Given the description of an element on the screen output the (x, y) to click on. 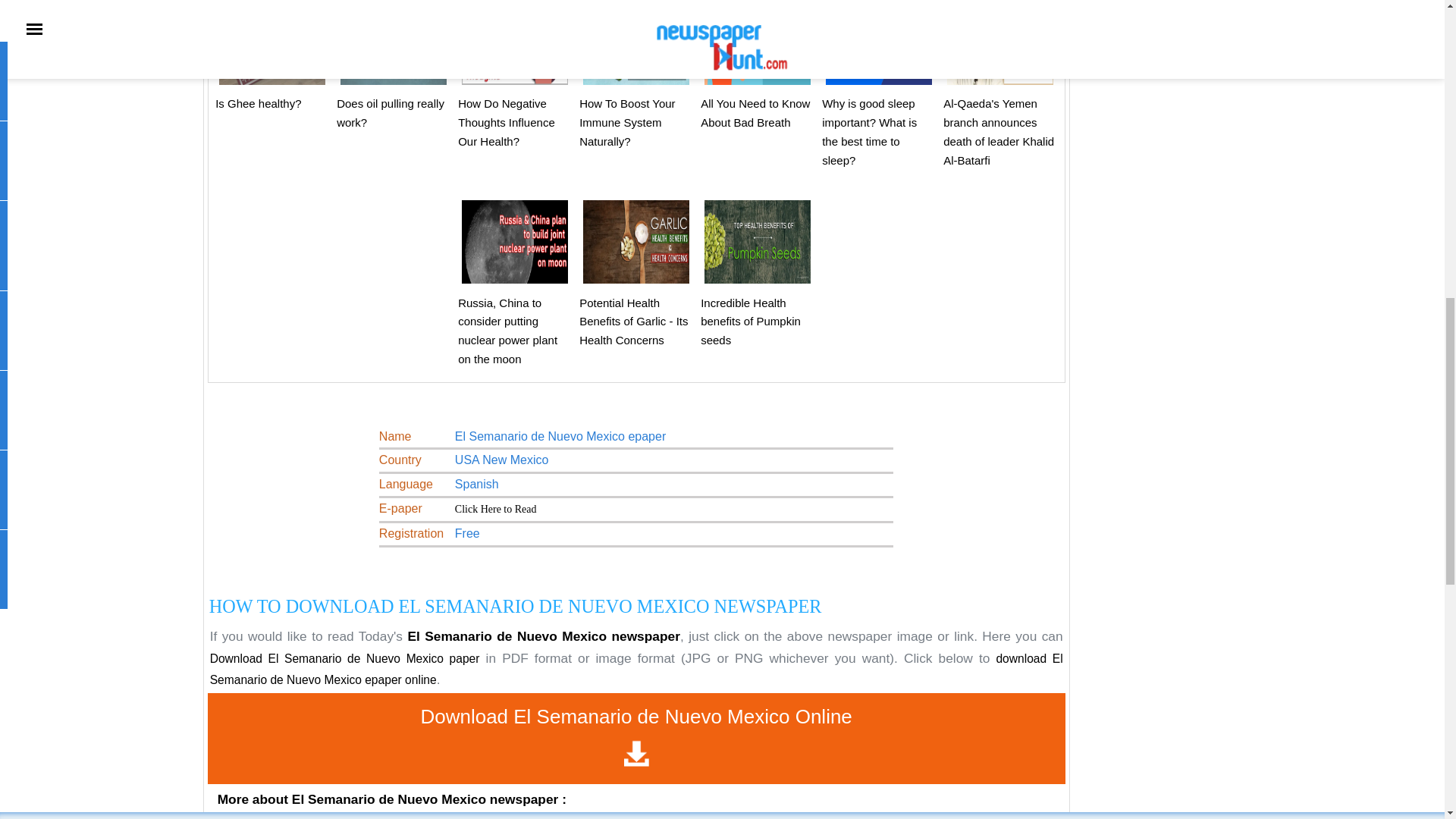
Is Ghee healthy? (258, 103)
